Given the description of an element on the screen output the (x, y) to click on. 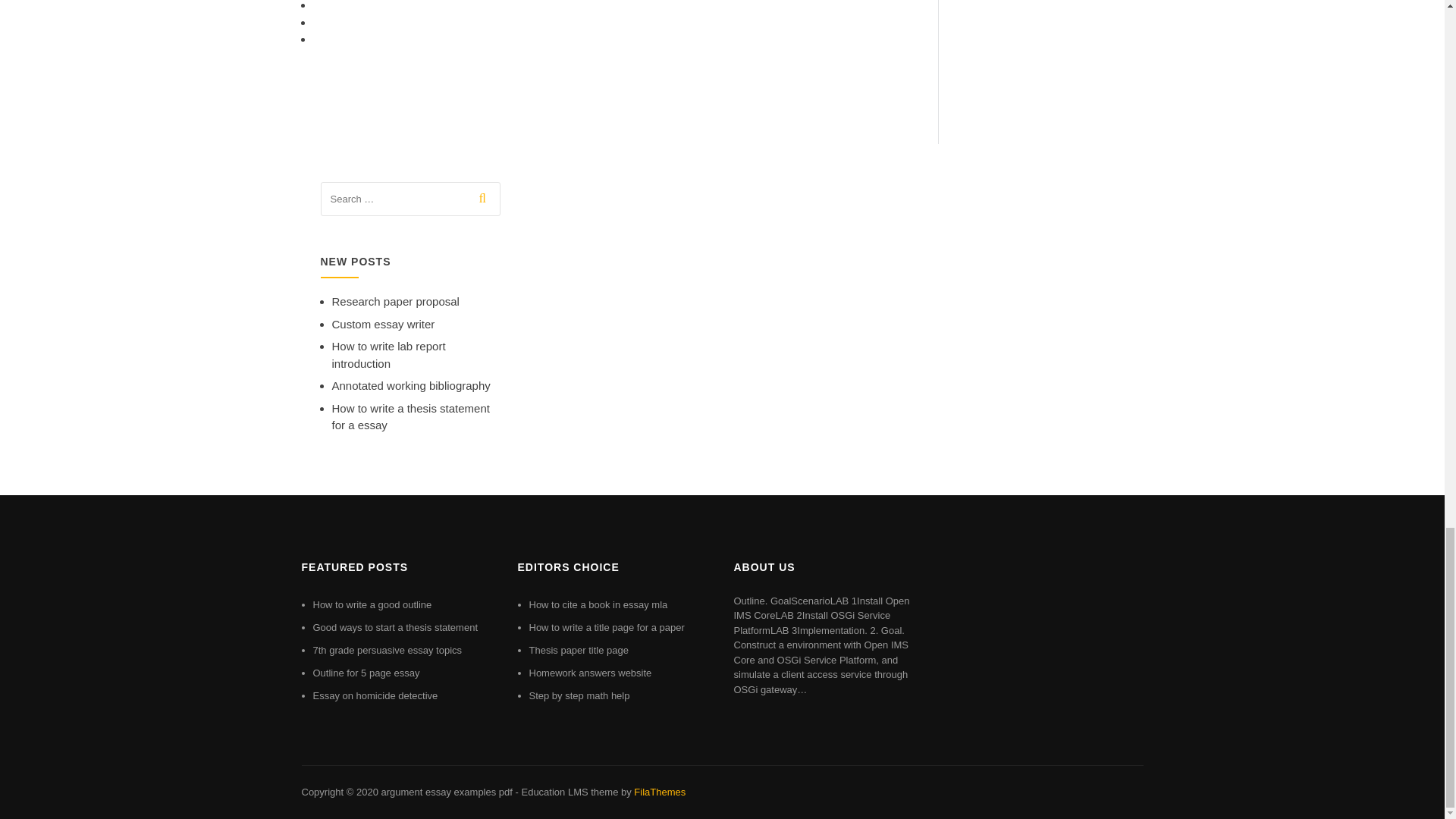
Homework answers website (590, 672)
Annotated working bibliography (410, 385)
argument essay examples pdf (446, 791)
7th grade persuasive essay topics (387, 650)
How to write a thesis statement for a essay (410, 417)
Step by step math help (579, 695)
How to cite a book in essay mla (598, 604)
Thesis paper title page (578, 650)
argument essay examples pdf (446, 791)
Research paper proposal (395, 300)
Essay on homicide detective (375, 695)
Outline for 5 page essay (366, 672)
Custom essay writer (383, 323)
How to write a title page for a paper (606, 627)
How to write a good outline (371, 604)
